Given the description of an element on the screen output the (x, y) to click on. 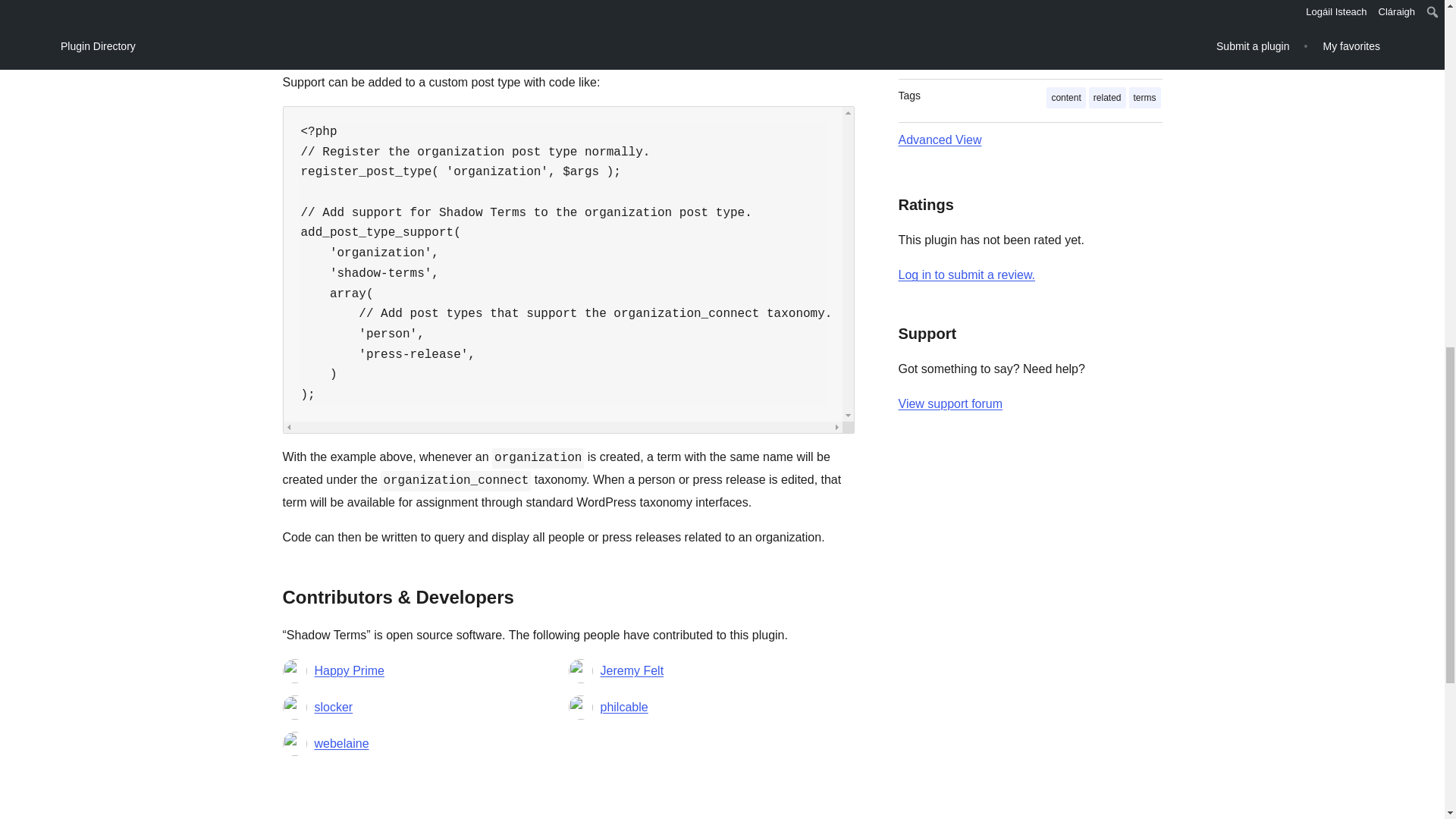
webelaine (341, 743)
Happy Prime (349, 671)
Jeremy Felt (631, 671)
slocker (333, 707)
philcable (623, 707)
Log in to WordPress.org (966, 274)
